Given the description of an element on the screen output the (x, y) to click on. 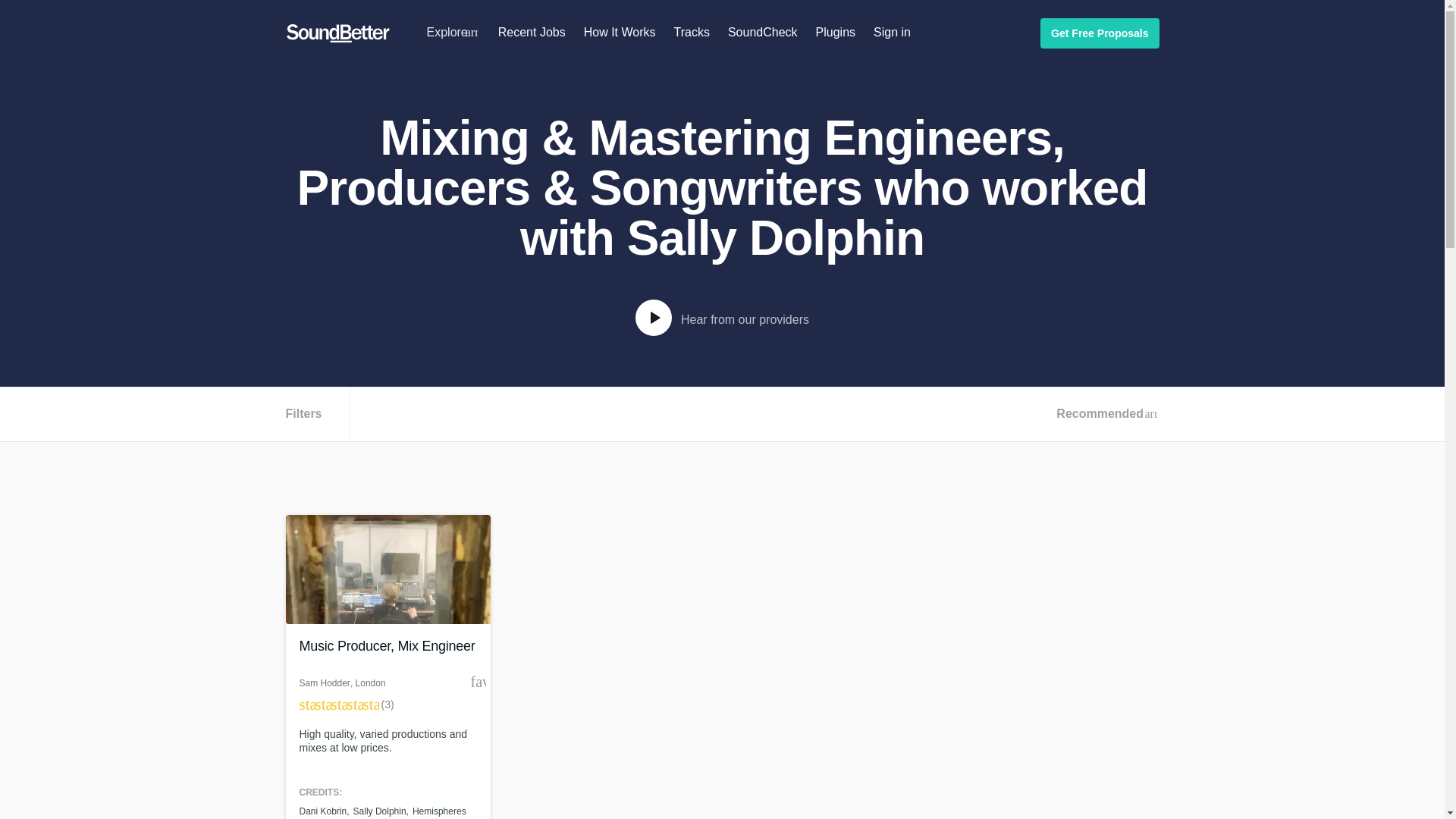
SoundBetter (337, 33)
